Given the description of an element on the screen output the (x, y) to click on. 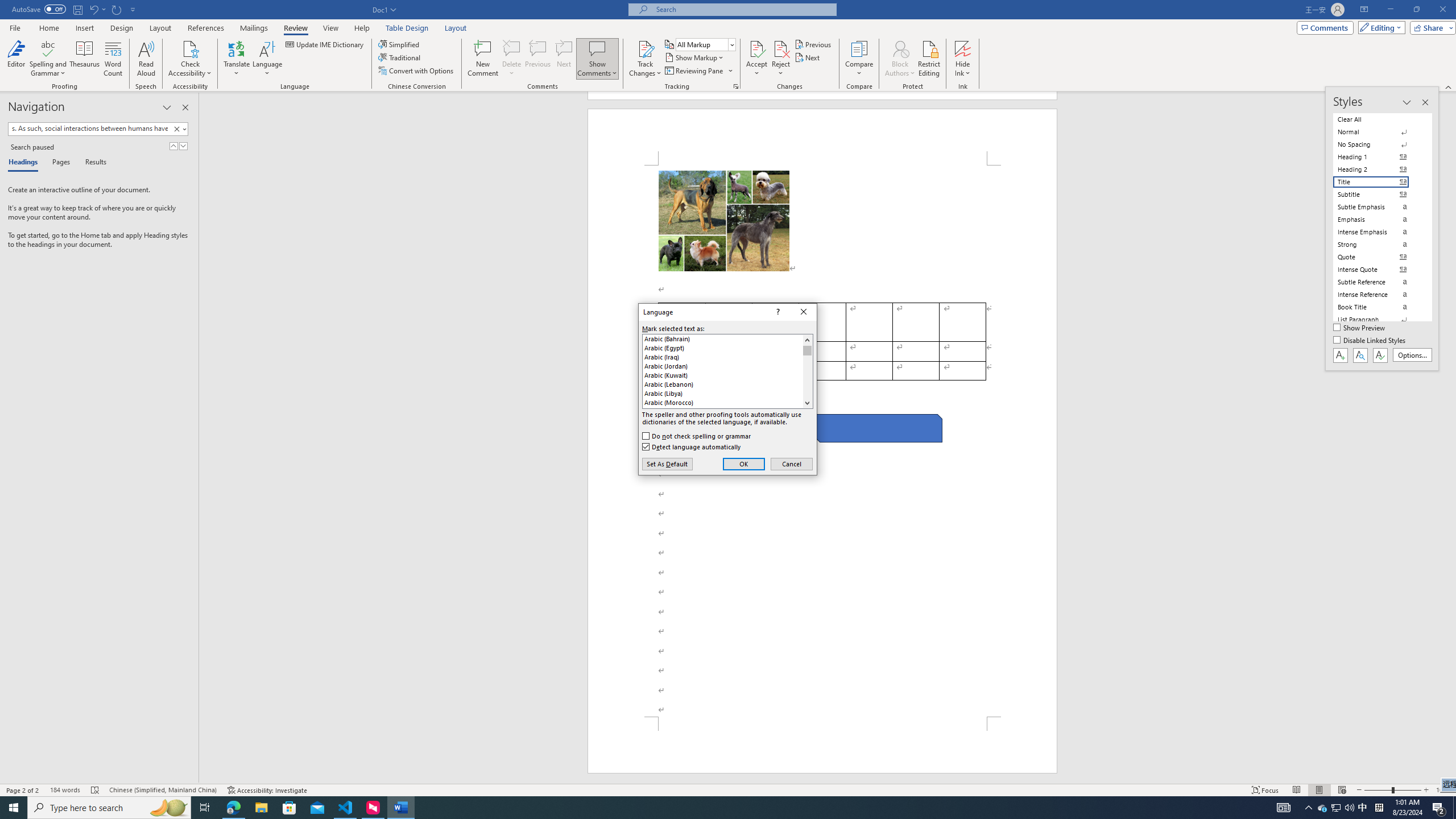
Do not check spelling or grammar (697, 435)
Spelling and Grammar (48, 58)
Convert with Options... (417, 69)
Restrict Editing (929, 58)
Compare (859, 58)
Disable Linked Styles (1370, 340)
Quote (1377, 256)
